Given the description of an element on the screen output the (x, y) to click on. 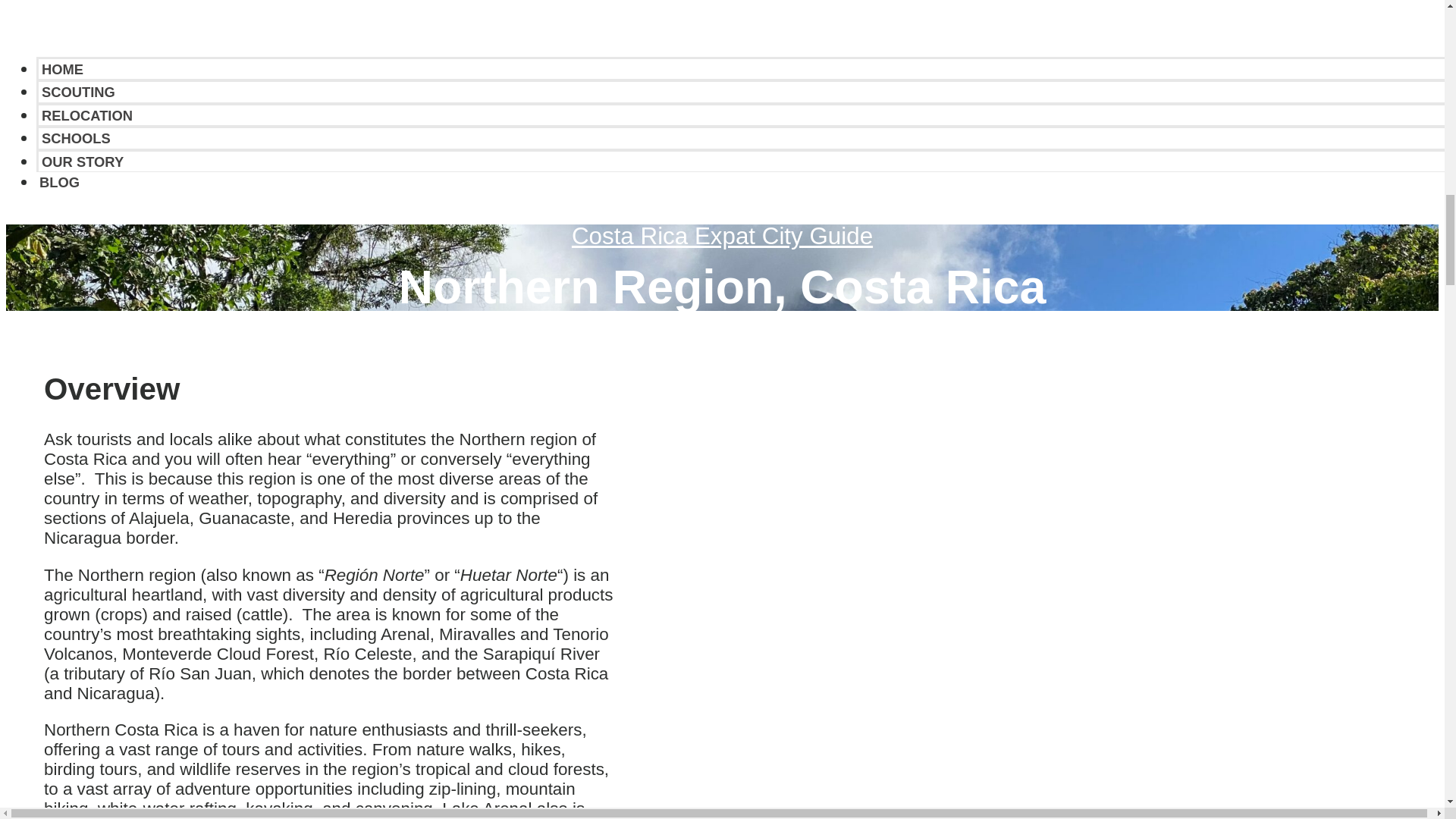
HOME (62, 69)
OUR STORY (82, 161)
RELOCATION (87, 115)
BLOG (59, 182)
Costa Rica Expat City Guide (722, 235)
SCHOOLS (76, 138)
SCOUTING (78, 91)
